Given the description of an element on the screen output the (x, y) to click on. 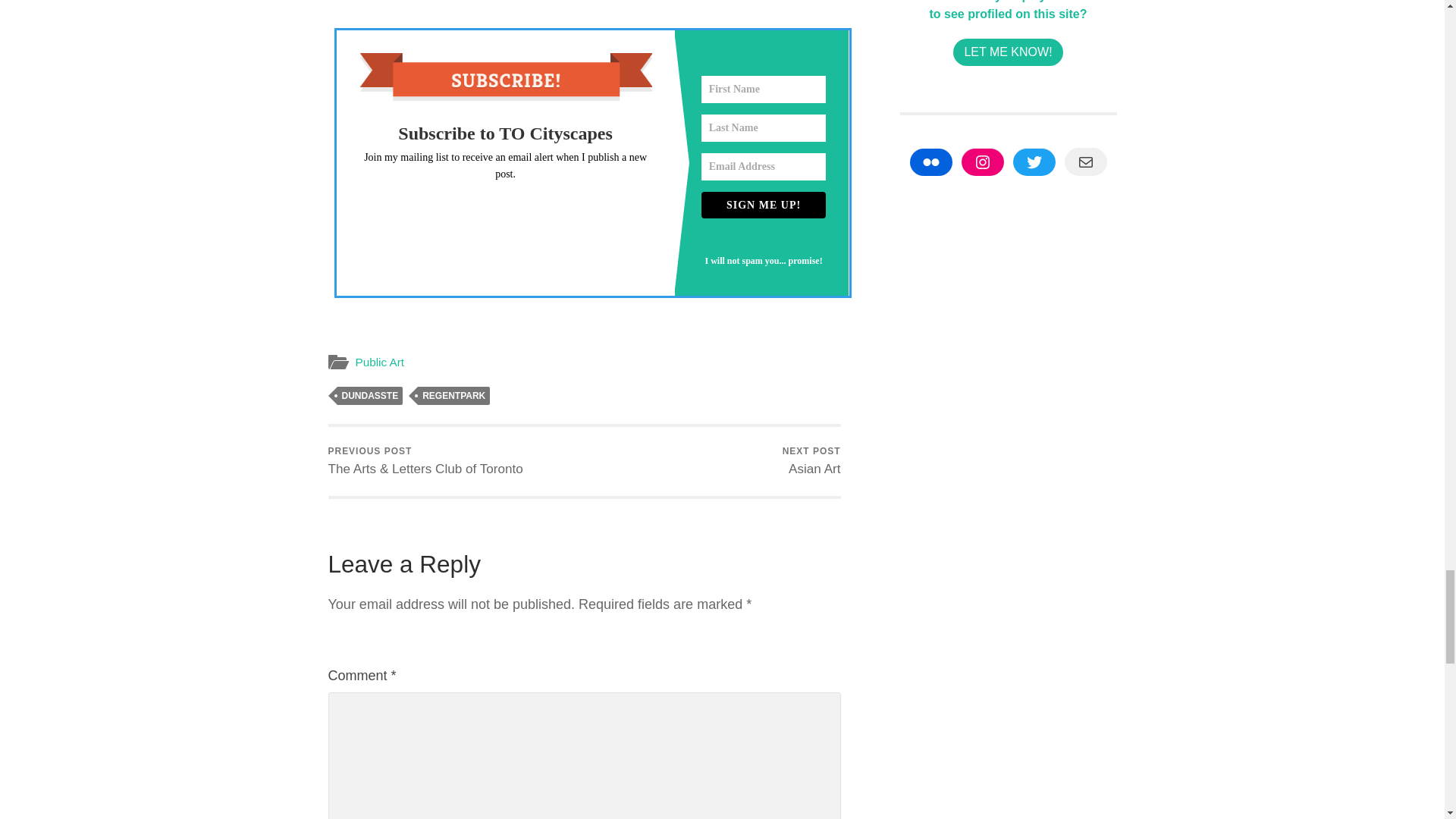
Public Art (379, 361)
DUNDASSTE (369, 395)
SIGN ME UP! (764, 204)
